Given the description of an element on the screen output the (x, y) to click on. 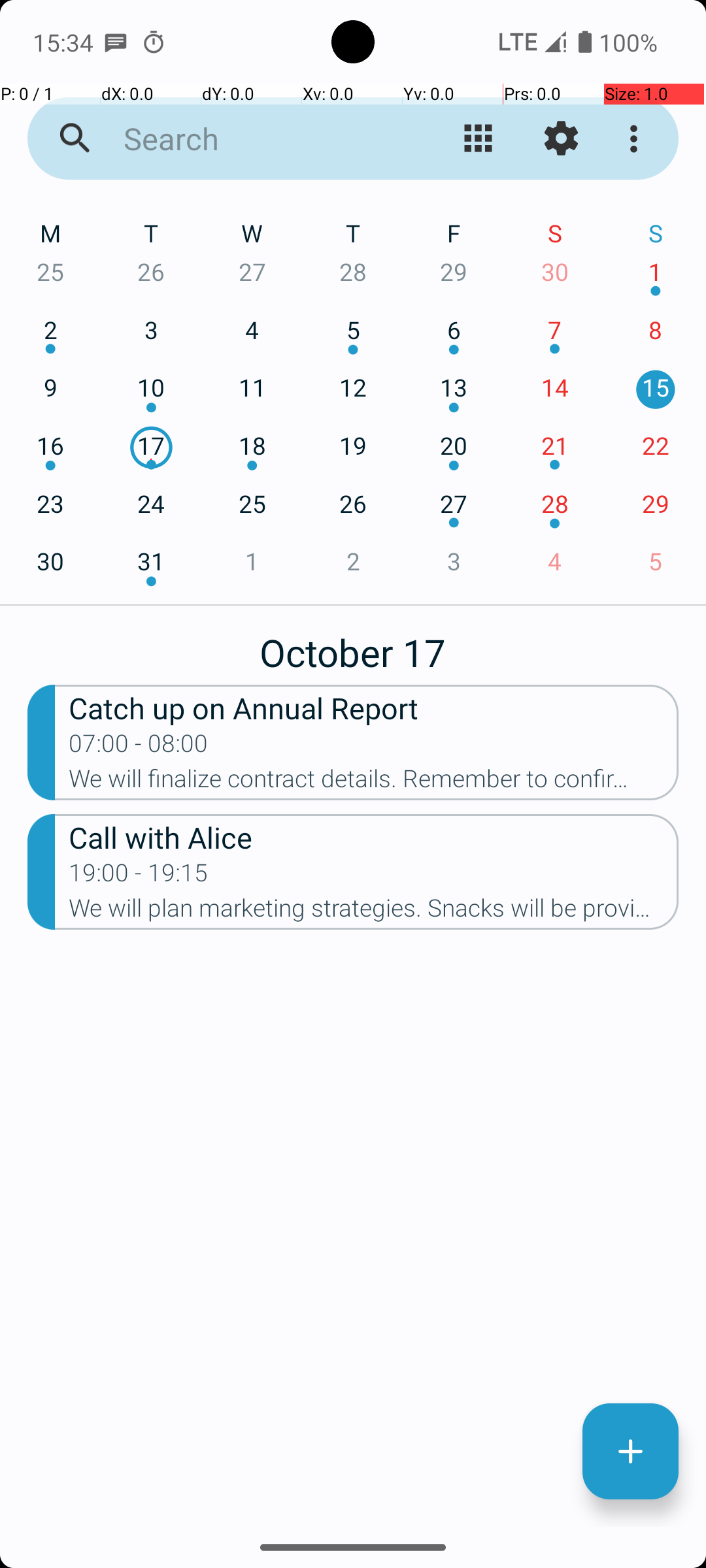
October 17 Element type: android.widget.TextView (352, 644)
07:00 - 08:00 Element type: android.widget.TextView (137, 747)
We will finalize contract details. Remember to confirm attendance. Element type: android.widget.TextView (373, 782)
Call with Alice Element type: android.widget.TextView (373, 836)
19:00 - 19:15 Element type: android.widget.TextView (137, 876)
We will plan marketing strategies. Snacks will be provided. Element type: android.widget.TextView (373, 911)
SMS Messenger notification: +15785288010 Element type: android.widget.ImageView (115, 41)
